Given the description of an element on the screen output the (x, y) to click on. 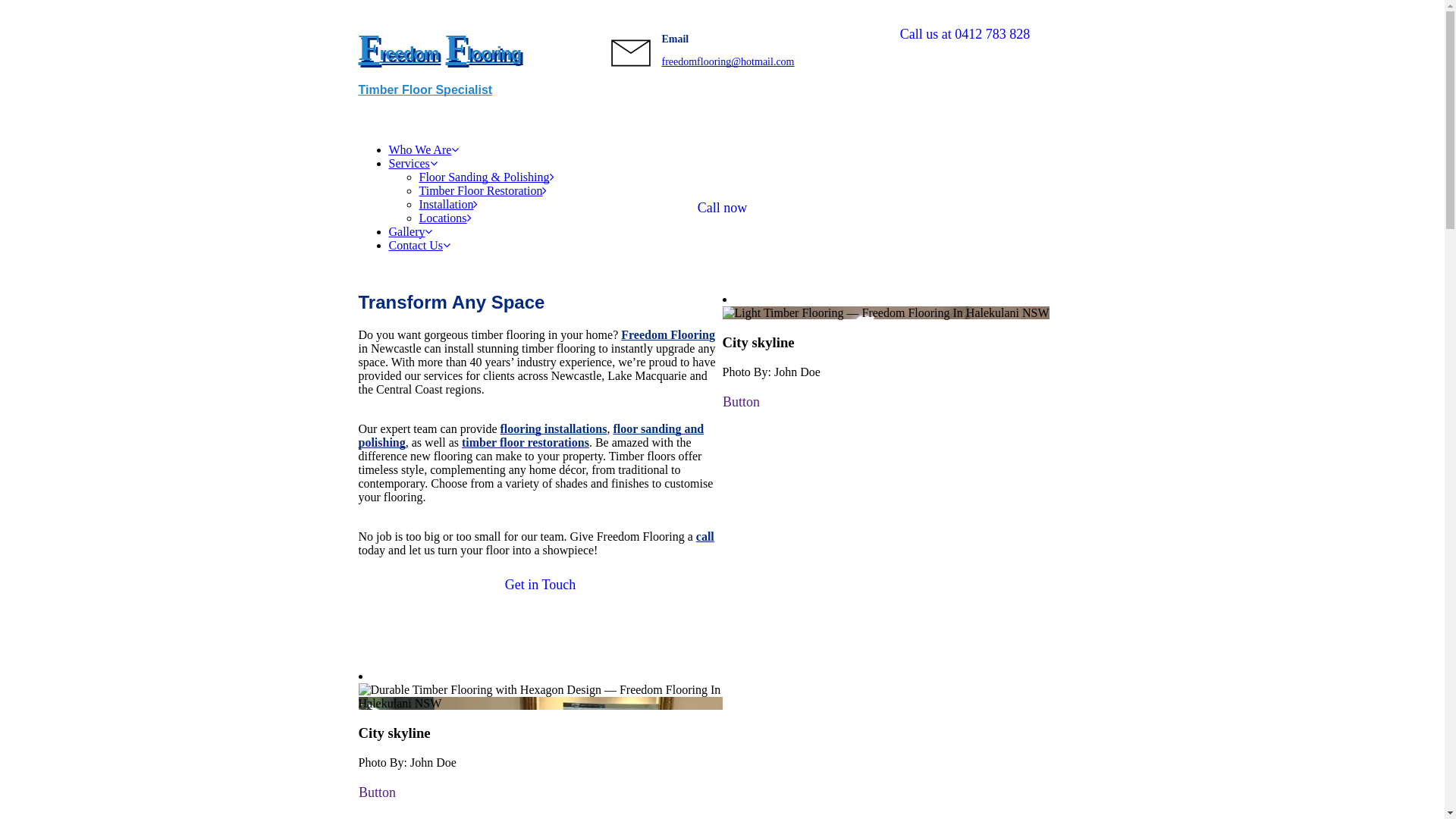
floor sanding and polishing Element type: text (530, 435)
Get in Touch Element type: text (539, 584)
freedomflooring@hotmail.com Element type: text (727, 61)
Locations Element type: text (444, 217)
Installation Element type: text (447, 203)
reedom Element type: text (408, 53)
F Element type: text (368, 47)
Freedom Floorin Element type: text (665, 334)
Call us at 0412 783 828 Element type: text (964, 34)
F Element type: text (456, 47)
call Element type: text (705, 536)
Gallery Element type: text (410, 231)
Contact Us Element type: text (419, 244)
Who We Are Element type: text (423, 149)
Button Element type: text (740, 401)
Timber Floor Restoration Element type: text (482, 190)
Button Element type: text (376, 792)
Call now Element type: text (721, 207)
Floor Sanding & Polishing Element type: text (485, 176)
Timber Floor Specialist Element type: text (424, 89)
looring Element type: text (493, 53)
Services Element type: text (412, 162)
flooring installations Element type: text (553, 428)
timber floor restorations Element type: text (525, 442)
